Given the description of an element on the screen output the (x, y) to click on. 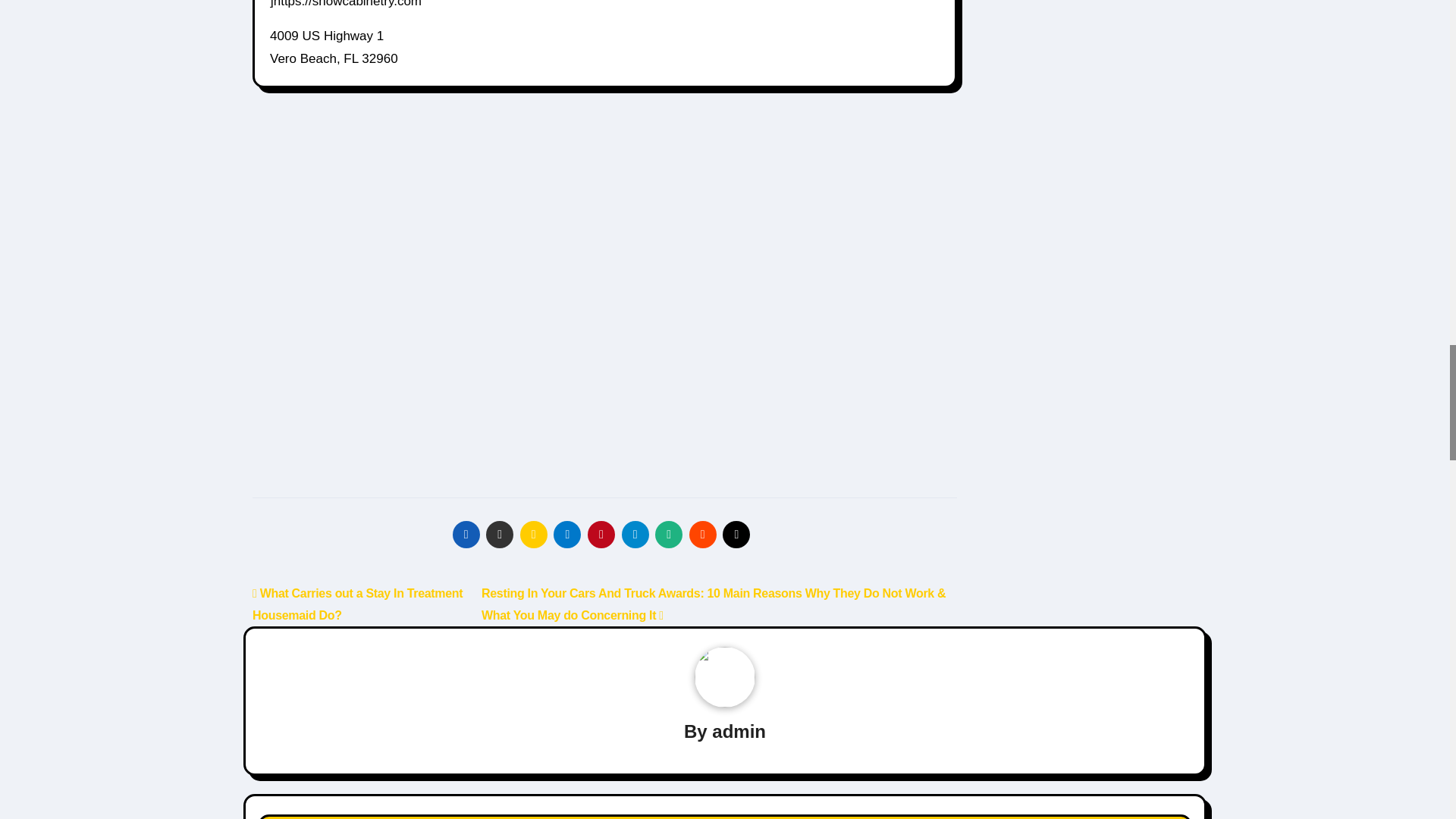
What Carries out a Stay In Treatment Housemaid Do? (357, 603)
